Given the description of an element on the screen output the (x, y) to click on. 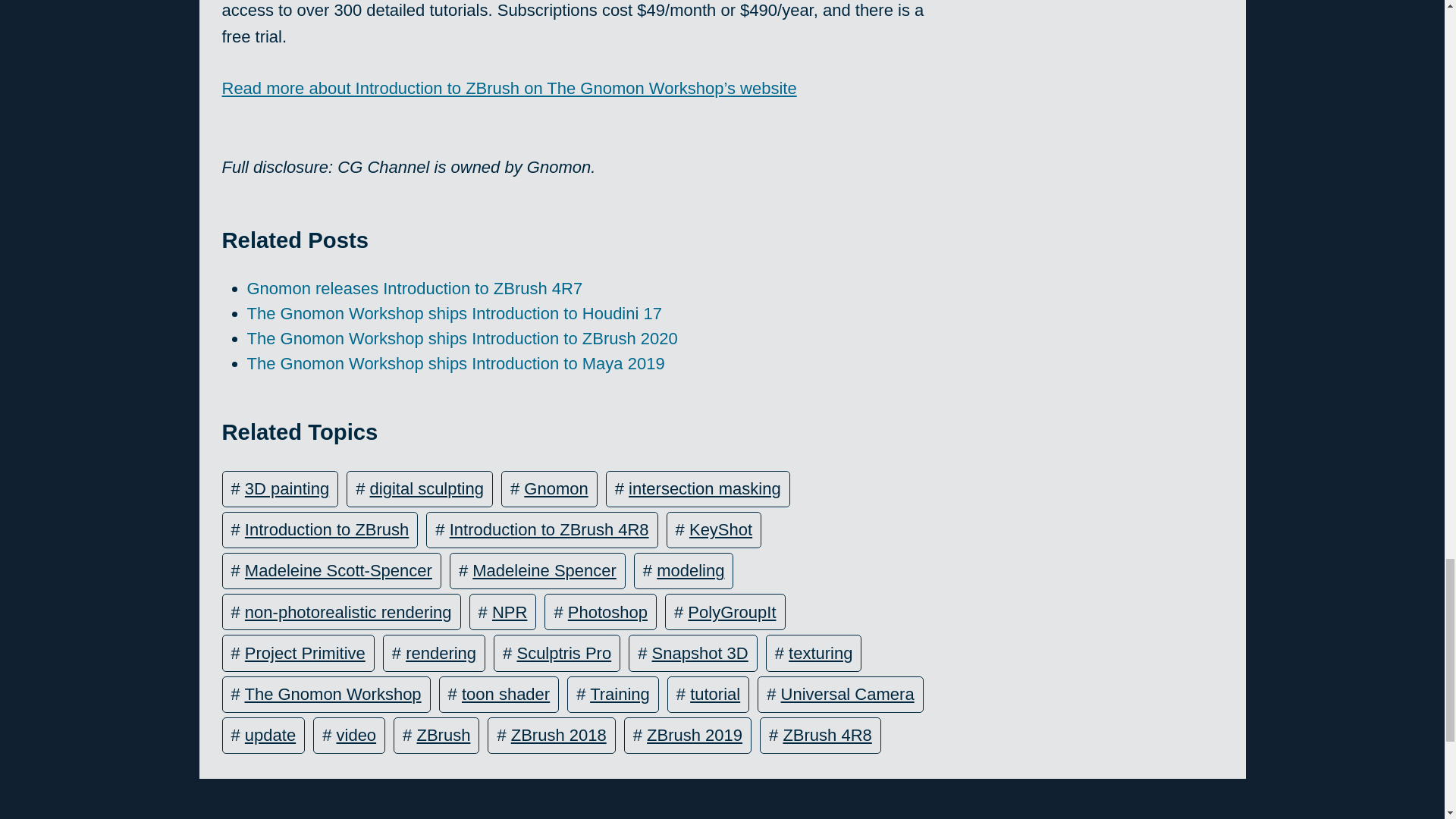
The Gnomon Workshop ships Introduction to ZBrush 2020 (462, 338)
Introduction to ZBrush (326, 529)
The Gnomon Workshop ships Introduction to Maya 2019 (456, 363)
3D painting (286, 488)
KeyShot (720, 529)
The Gnomon Workshop ships Introduction to ZBrush 2020 (462, 338)
The Gnomon Workshop ships Introduction to Houdini 17 (454, 312)
Madeleine Scott-Spencer (338, 570)
intersection masking (704, 488)
The Gnomon Workshop ships Introduction to Houdini 17 (454, 312)
